Given the description of an element on the screen output the (x, y) to click on. 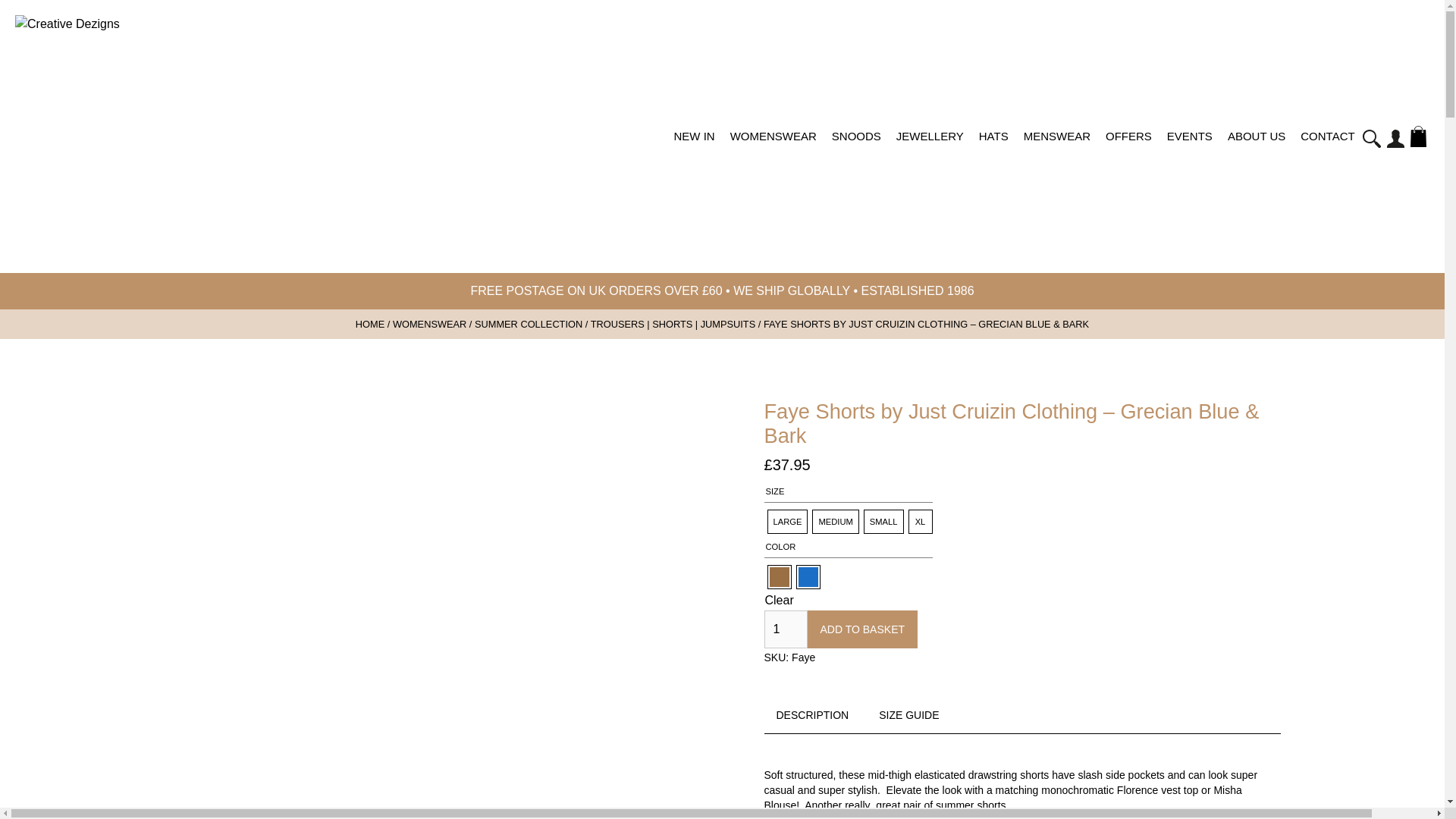
SNOODS (856, 151)
WOMENSWEAR (773, 151)
1 (786, 629)
Medium (834, 521)
NEW IN (693, 151)
JEWELLERY (929, 151)
ABOUT US (1256, 151)
OFFERS (1127, 151)
Bark (778, 576)
EVENTS (1189, 151)
